Given the description of an element on the screen output the (x, y) to click on. 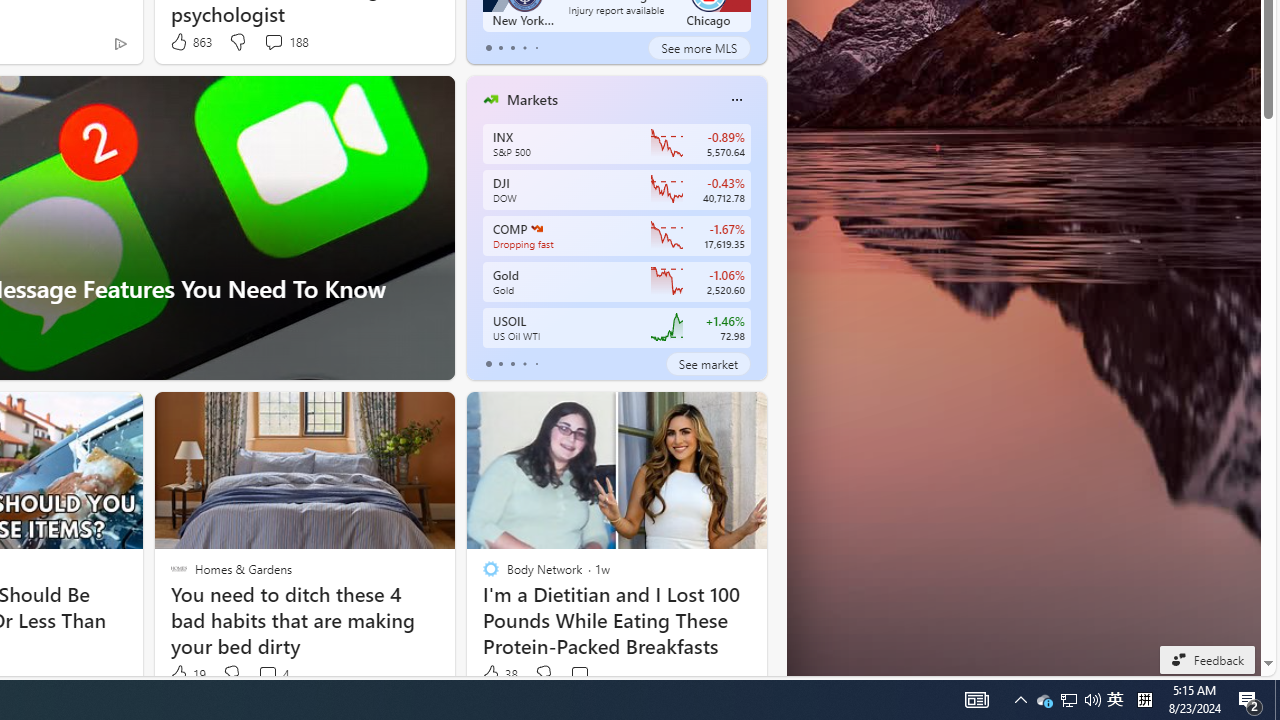
tab-1 (500, 363)
View comments 188 Comment (273, 41)
38 Like (499, 674)
View comments 188 Comment (285, 42)
tab-2 (511, 363)
See market (708, 363)
View comments 4 Comment (267, 673)
NASDAQ (535, 228)
See more MLS (699, 47)
